Given the description of an element on the screen output the (x, y) to click on. 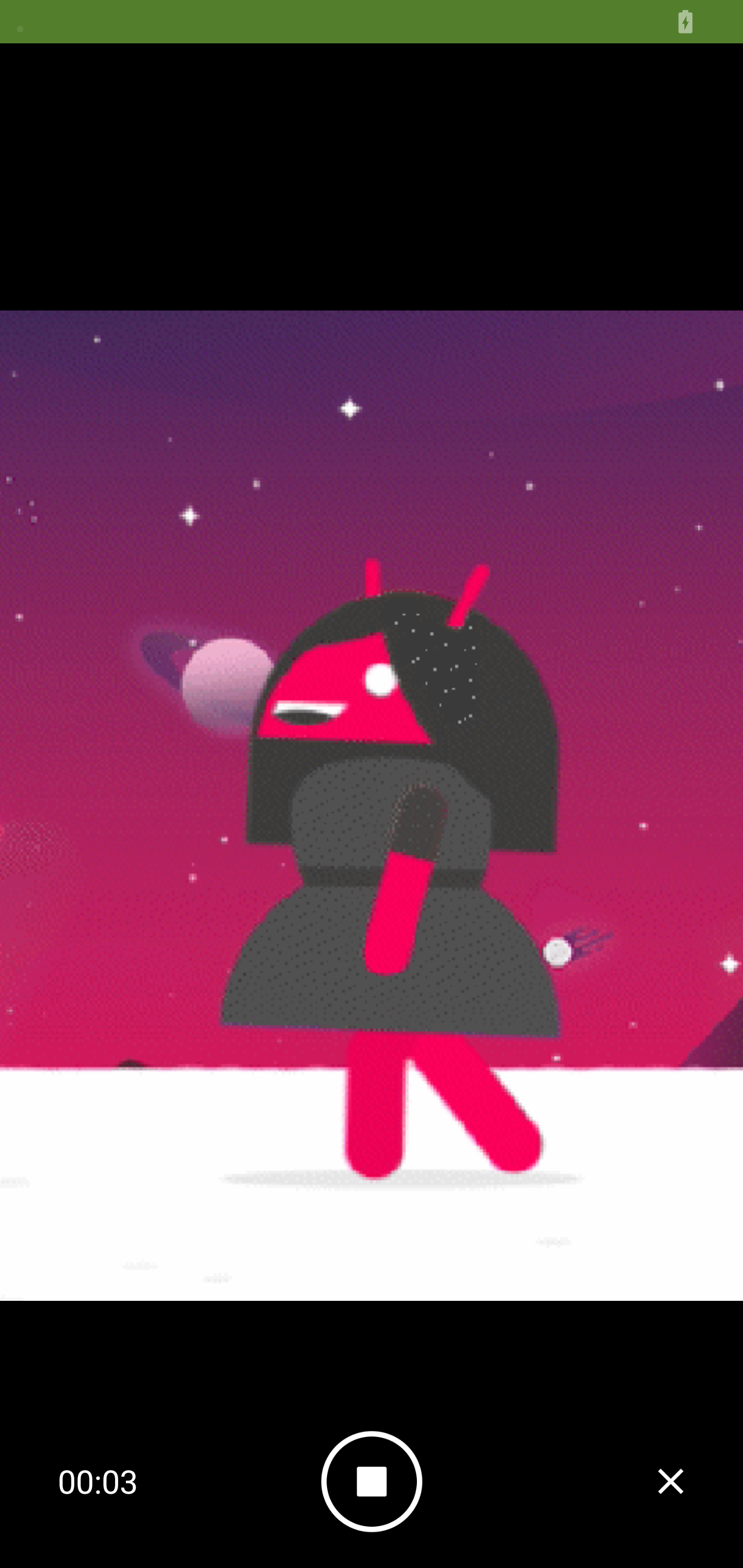
Stop recording and attach video (371, 1480)
Stop recording video (670, 1480)
